Given the description of an element on the screen output the (x, y) to click on. 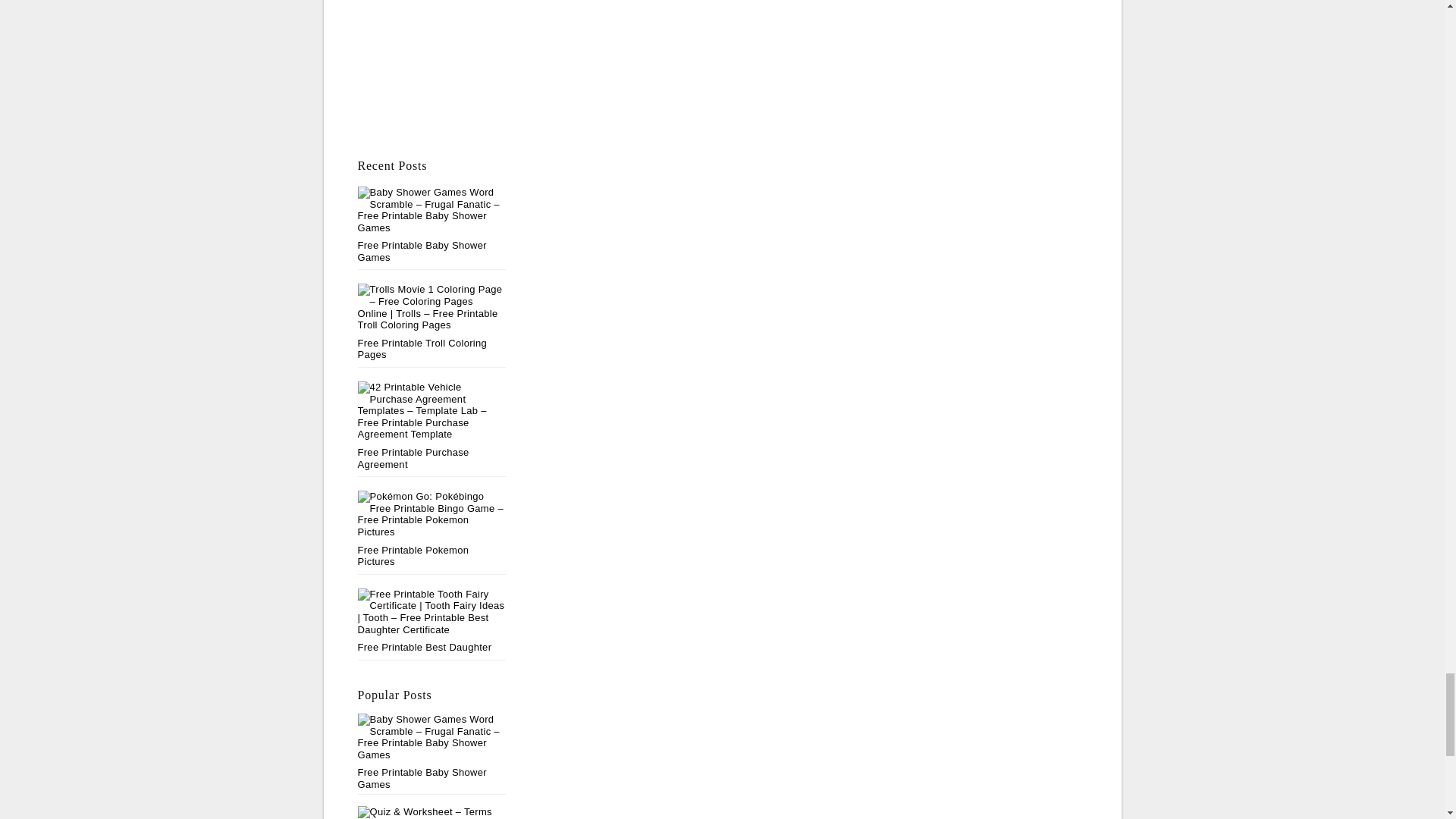
Free Printable Pokemon Pictures (413, 556)
Free Printable Troll Coloring Pages (422, 349)
Free Printable Baby Shower Games (422, 250)
Free Printable Baby Shower Games (432, 752)
Free Printable Purchase Agreement (413, 458)
Free Printable Best Daughter (425, 646)
